Given the description of an element on the screen output the (x, y) to click on. 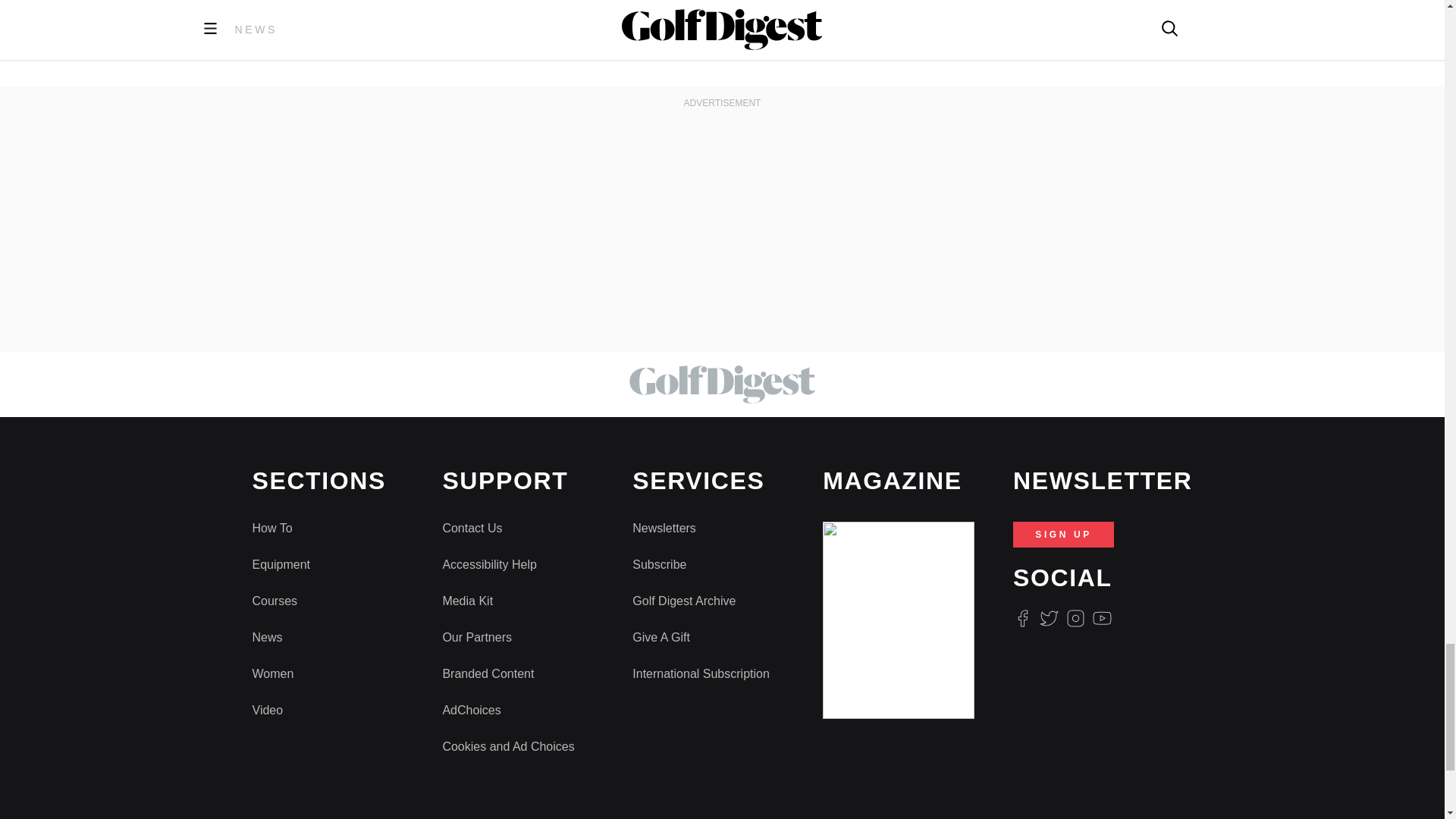
Youtube Icon (1102, 618)
Facebook Logo (1022, 618)
Instagram Logo (1074, 618)
Twitter Logo (1048, 618)
